Given the description of an element on the screen output the (x, y) to click on. 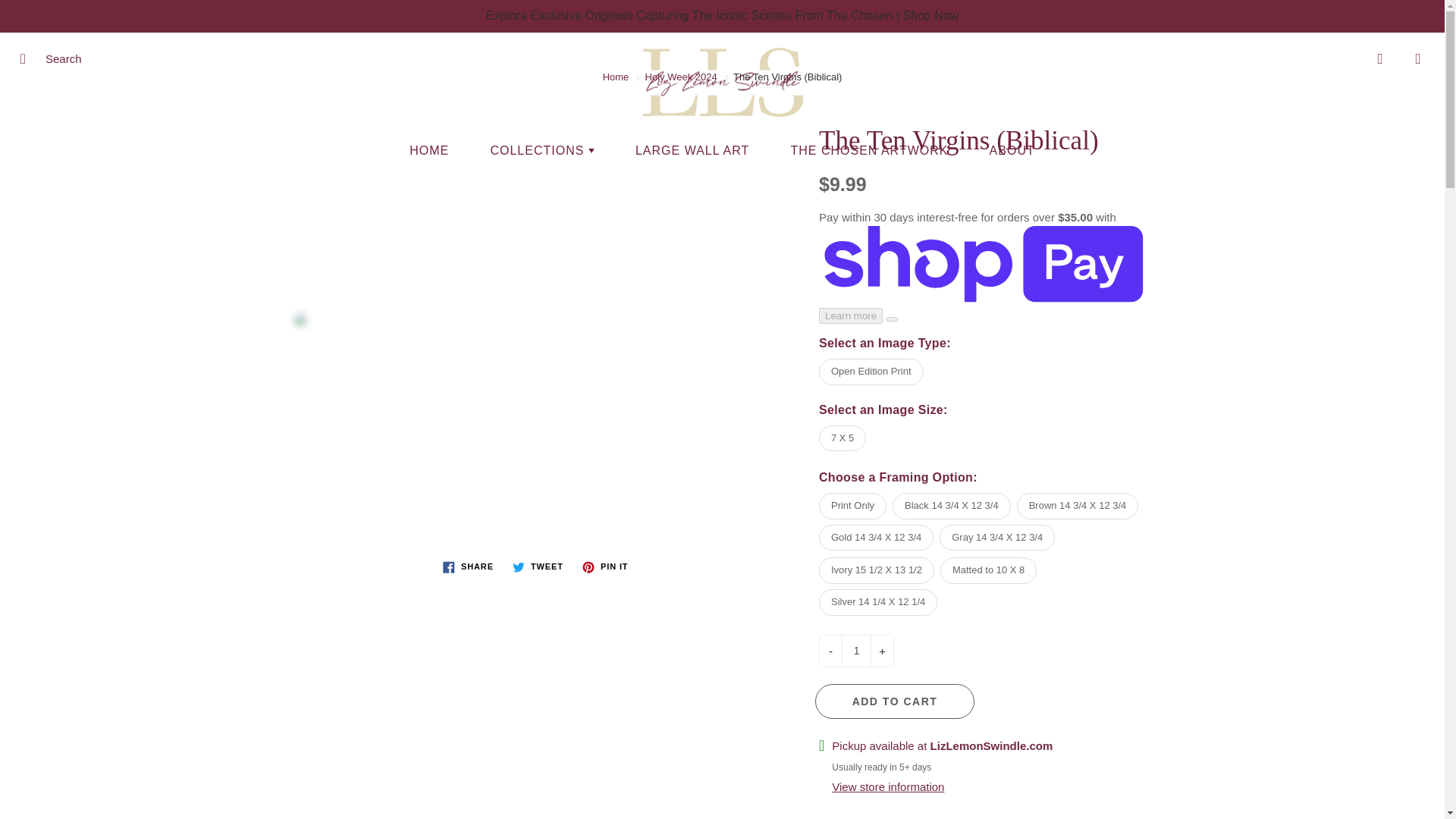
1 (855, 650)
Pin on Pinterest (604, 566)
COLLECTIONS (541, 150)
Home (615, 76)
ABOUT (1012, 150)
My account (1379, 58)
HOME (428, 150)
Search (28, 58)
Tweet on Twitter (537, 566)
LARGE WALL ART (691, 150)
